Given the description of an element on the screen output the (x, y) to click on. 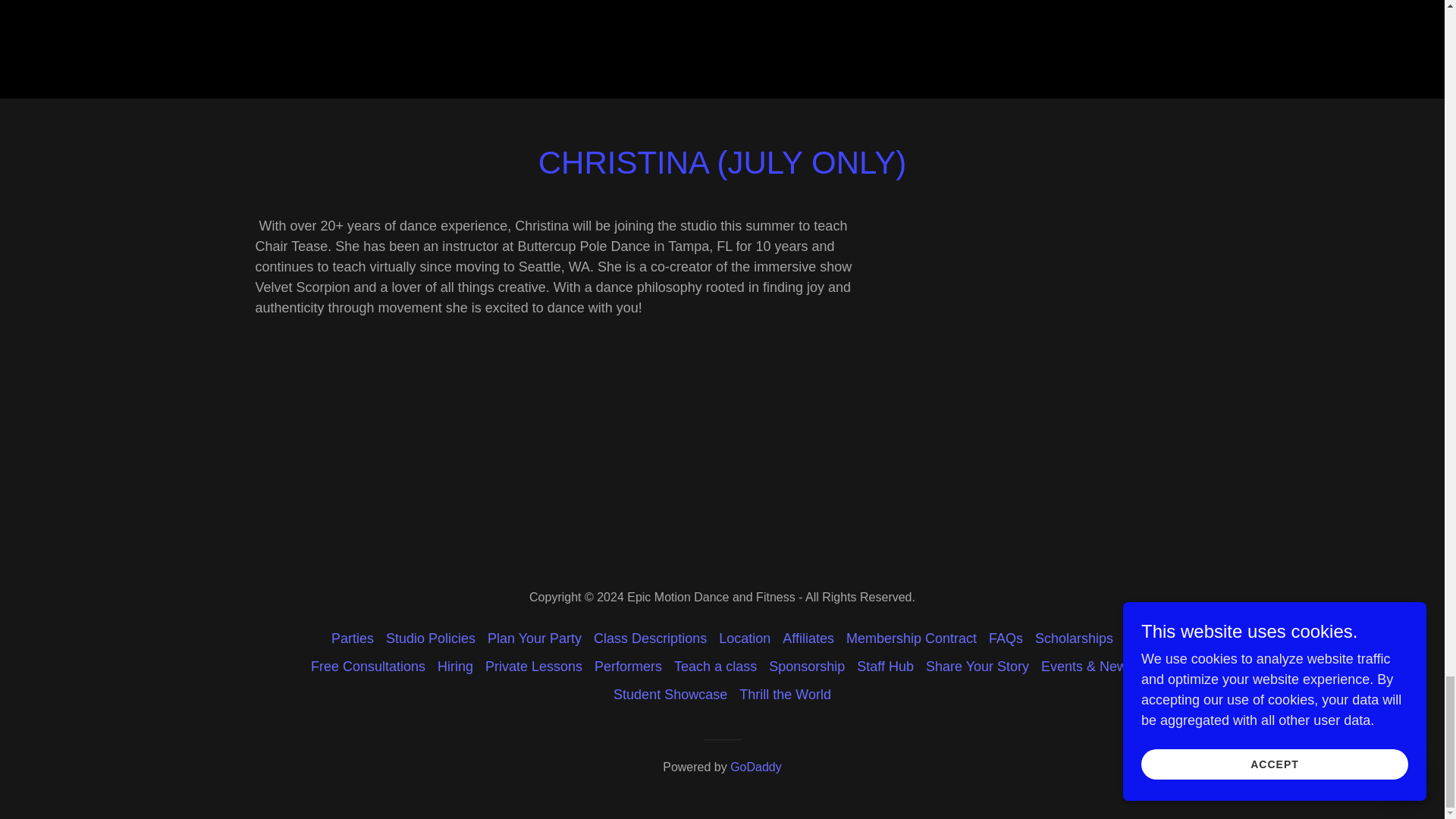
Class Descriptions (650, 638)
FAQs (1005, 638)
Location (744, 638)
Studio Policies (430, 638)
Plan Your Party (534, 638)
Membership Contract (911, 638)
Affiliates (808, 638)
Parties (352, 638)
